Given the description of an element on the screen output the (x, y) to click on. 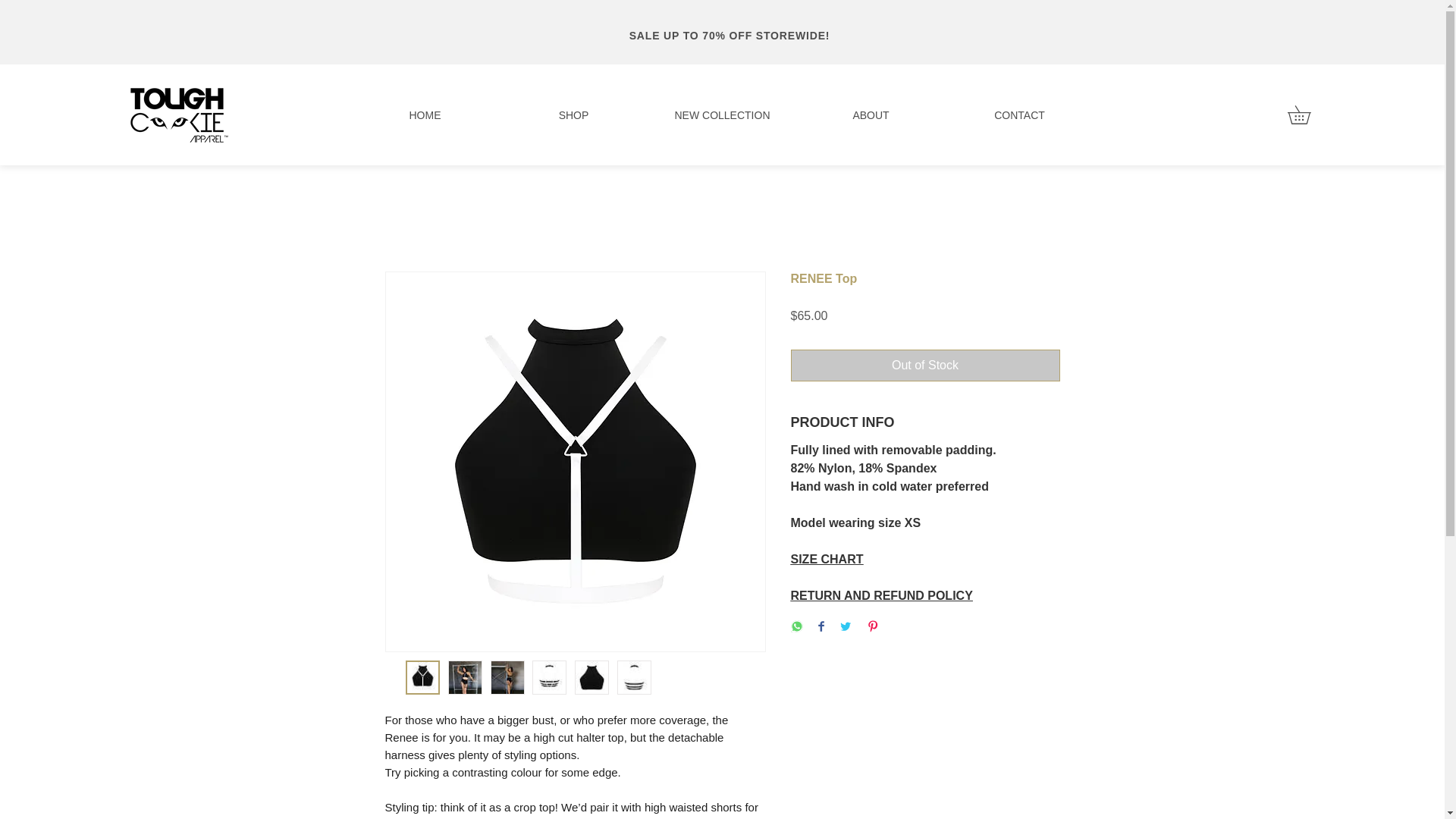
CONTACT (1018, 115)
NEW COLLECTION (721, 115)
ABOUT (870, 115)
HOME (424, 115)
SIZE CHART (826, 558)
SHOP (573, 115)
Out of Stock (924, 365)
RETURN AND REFUND POLICY (881, 594)
